Given the description of an element on the screen output the (x, y) to click on. 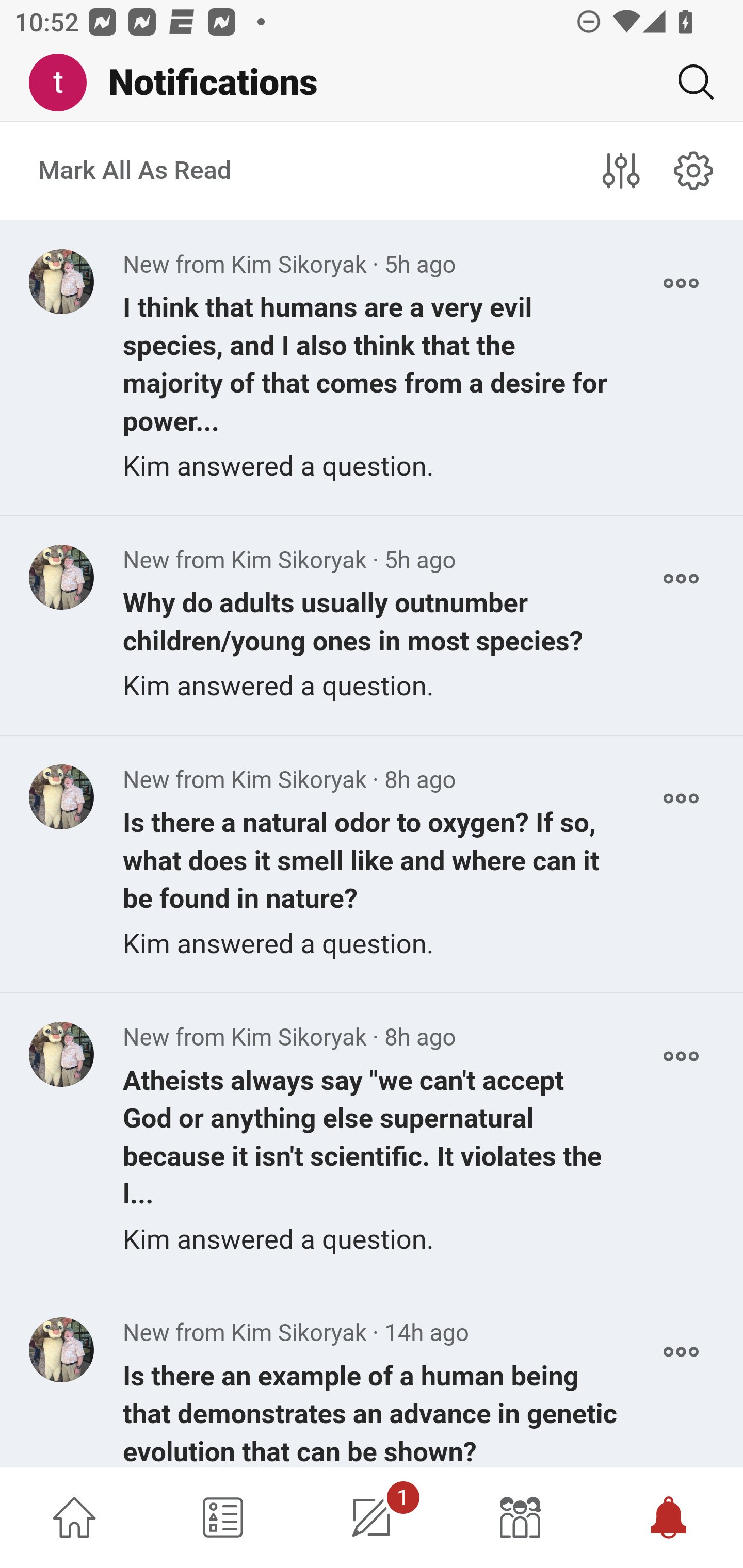
Me (64, 83)
Search (688, 82)
Mark All As Read (135, 171)
notifications# (693, 170)
More (681, 282)
More (681, 579)
More (681, 798)
More (681, 1055)
More (681, 1352)
1 (371, 1517)
